Given the description of an element on the screen output the (x, y) to click on. 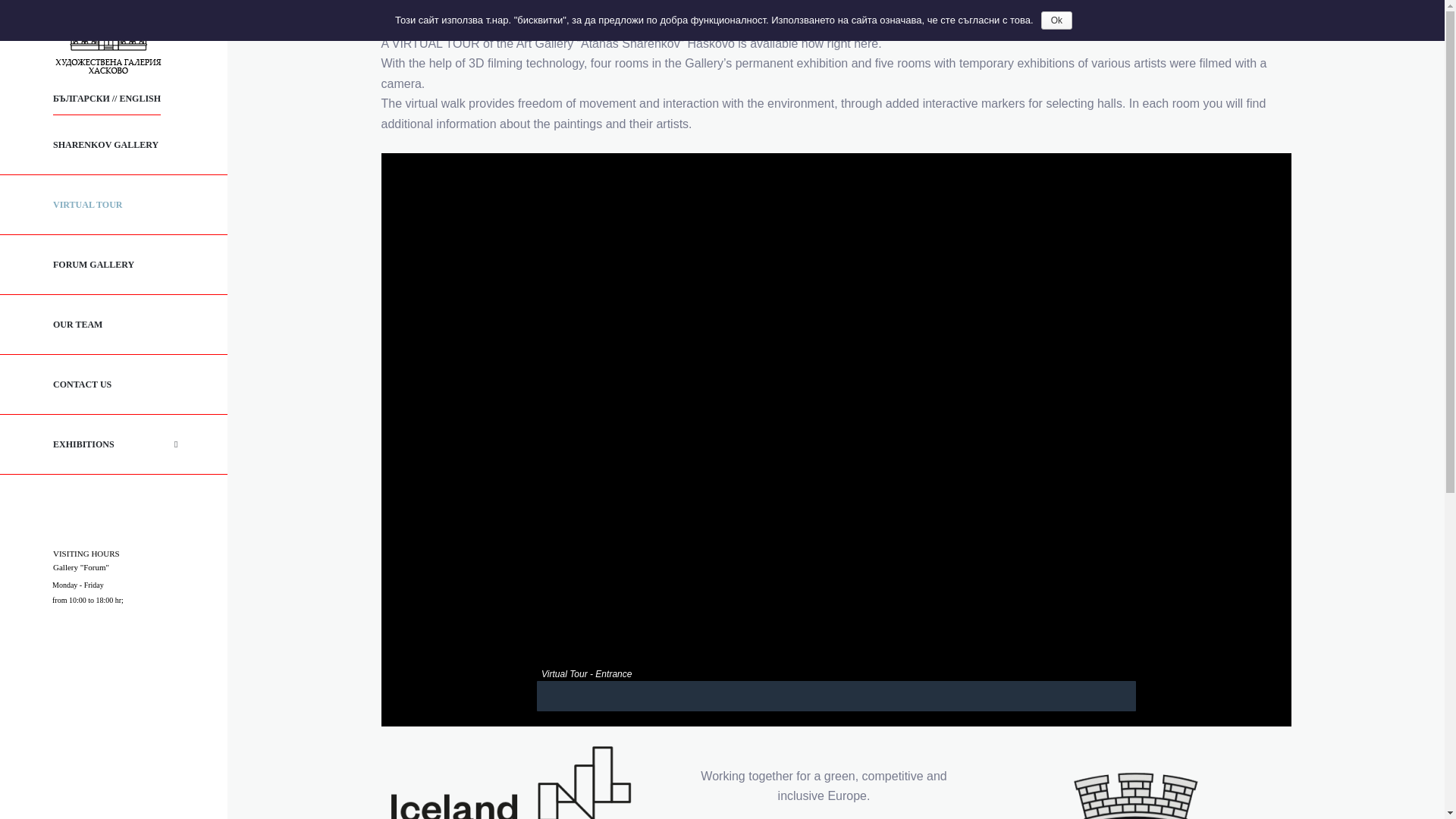
FORUM GALLERY (113, 264)
OUR TEAM (113, 324)
SHARENKOV GALLERY (113, 145)
City Art Gallery Haskovo (107, 40)
VIRTUAL TOUR (113, 205)
